Given the description of an element on the screen output the (x, y) to click on. 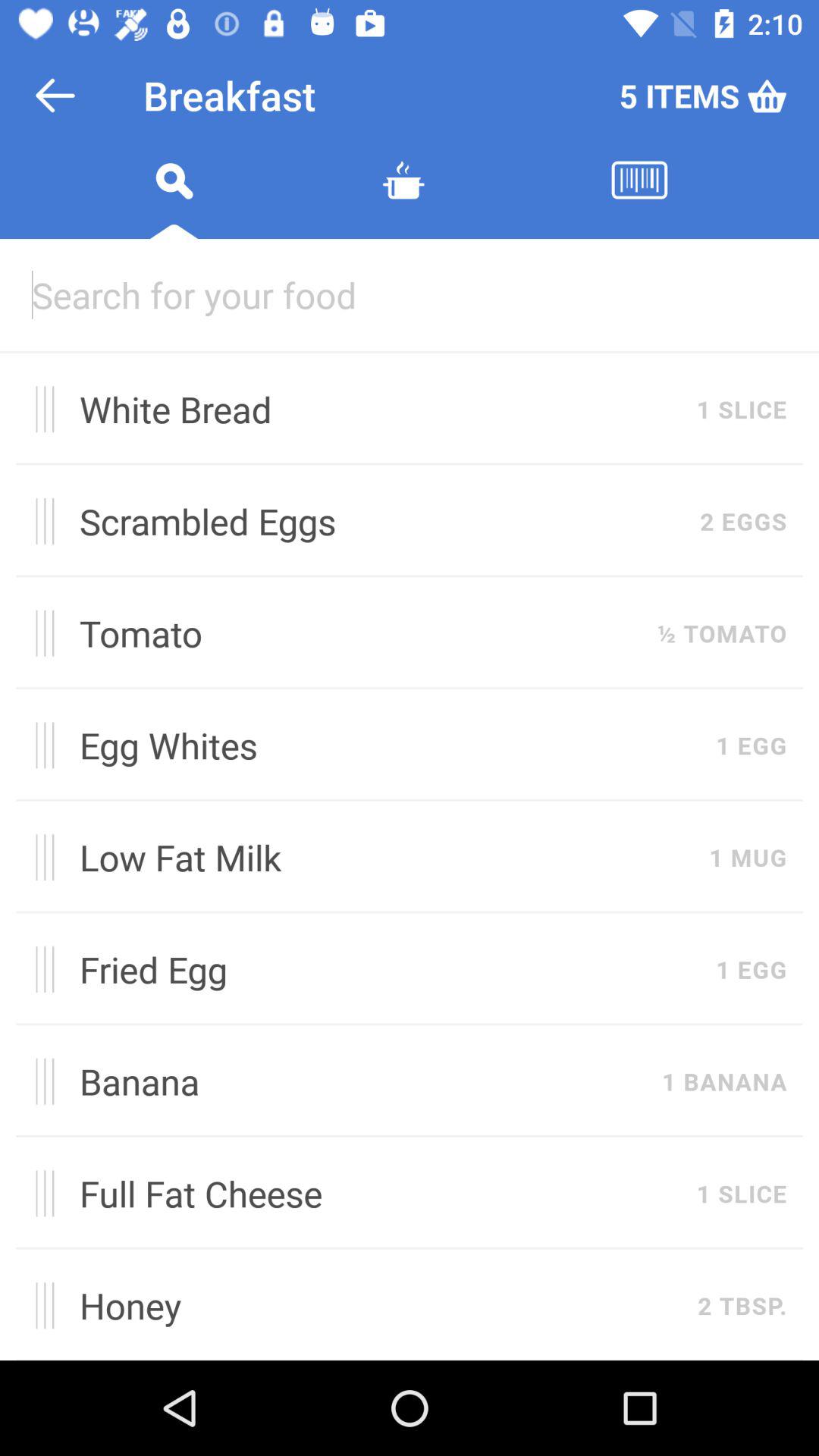
swipe to the egg whites item (389, 745)
